Given the description of an element on the screen output the (x, y) to click on. 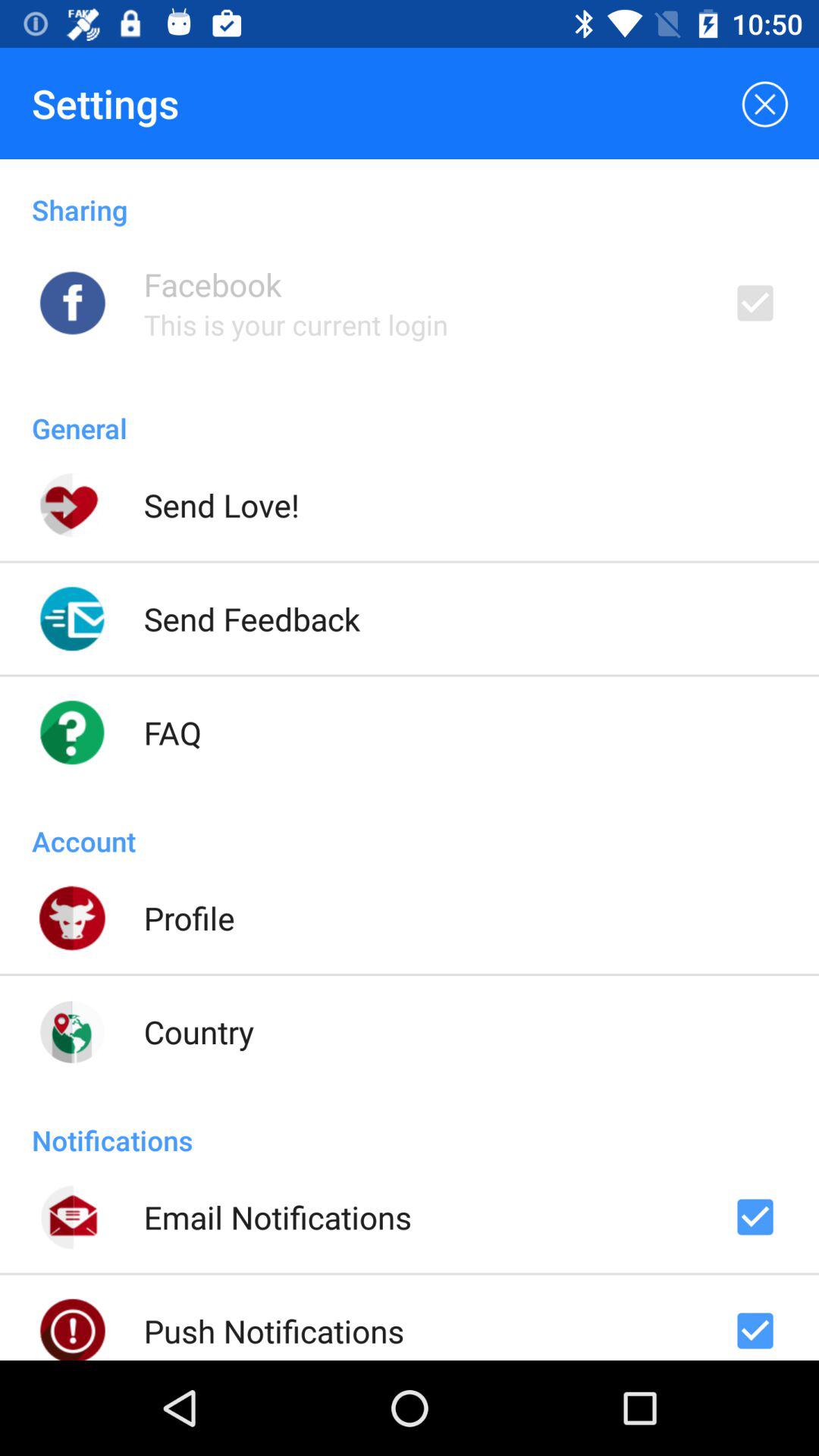
launch facebook item (212, 283)
